Given the description of an element on the screen output the (x, y) to click on. 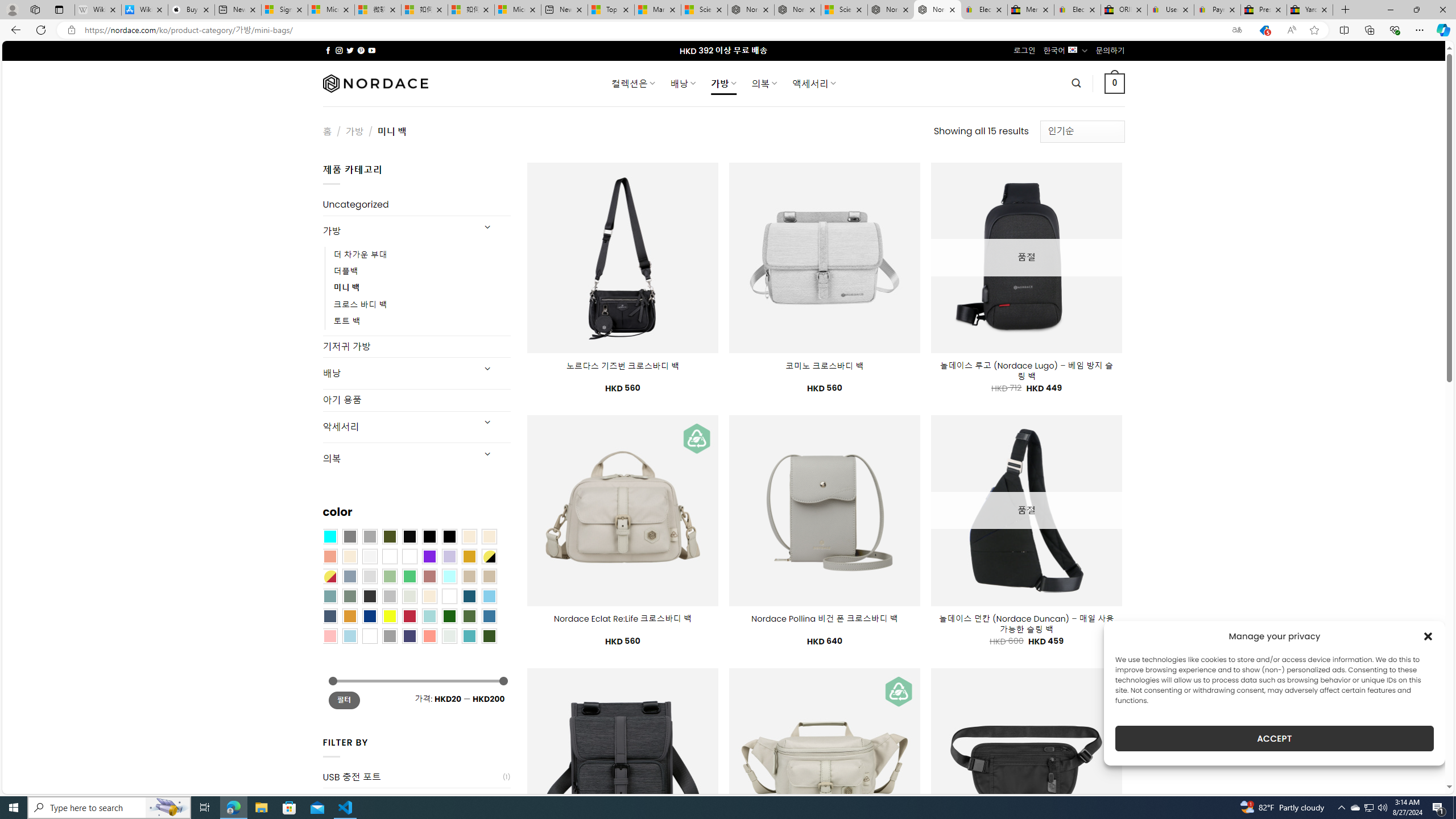
Follow on Facebook (327, 50)
Coral (329, 555)
Purple (429, 555)
Follow on YouTube (371, 50)
Marine life - MSN (656, 9)
